Given the description of an element on the screen output the (x, y) to click on. 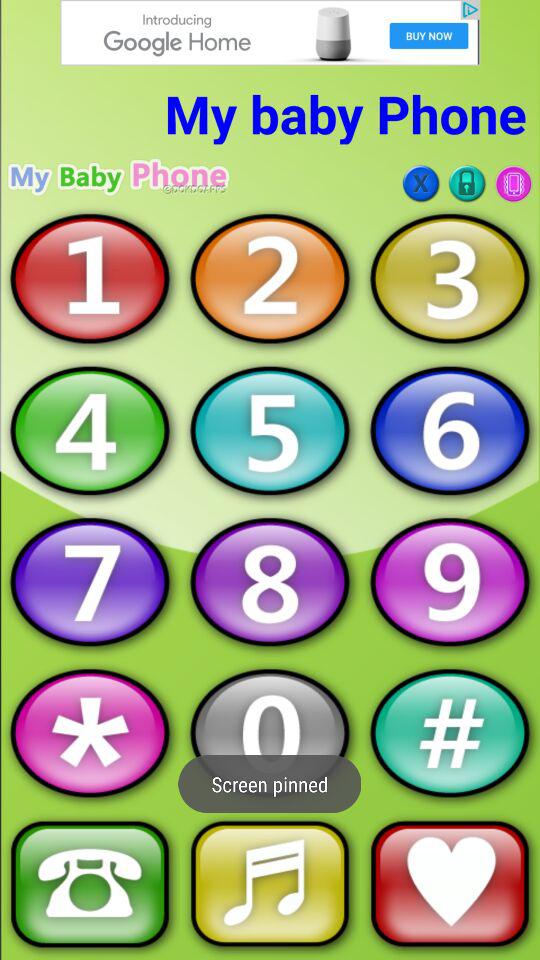
its an advertisement (270, 32)
